Given the description of an element on the screen output the (x, y) to click on. 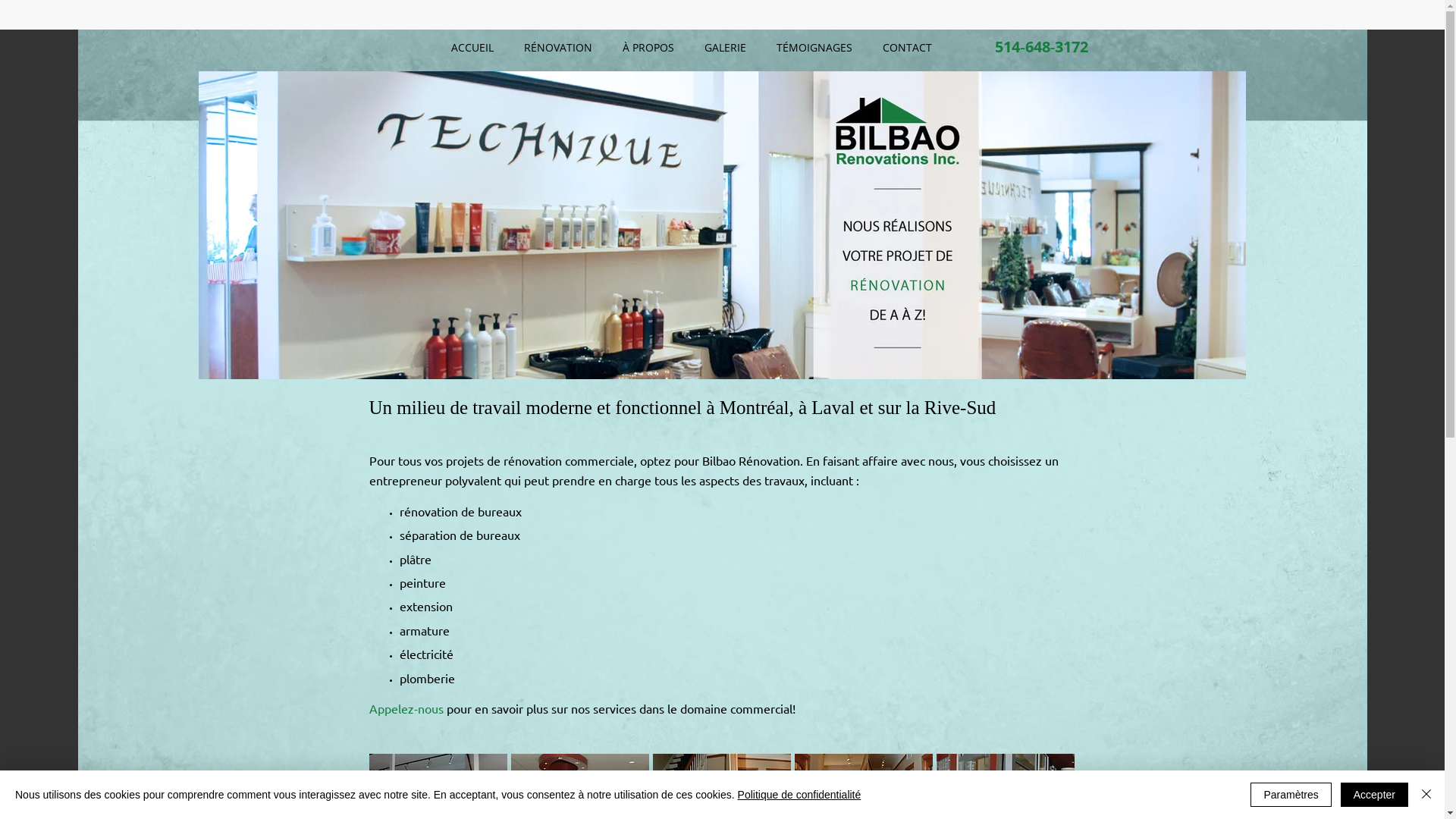
Embedded Content Element type: hover (985, 14)
Embedded Content Element type: hover (1069, 19)
ACCUEIL Element type: text (472, 47)
CONTACT Element type: text (907, 47)
Accepter Element type: text (1374, 794)
Appelez-nous Element type: text (405, 707)
GALERIE Element type: text (725, 47)
